Given the description of an element on the screen output the (x, y) to click on. 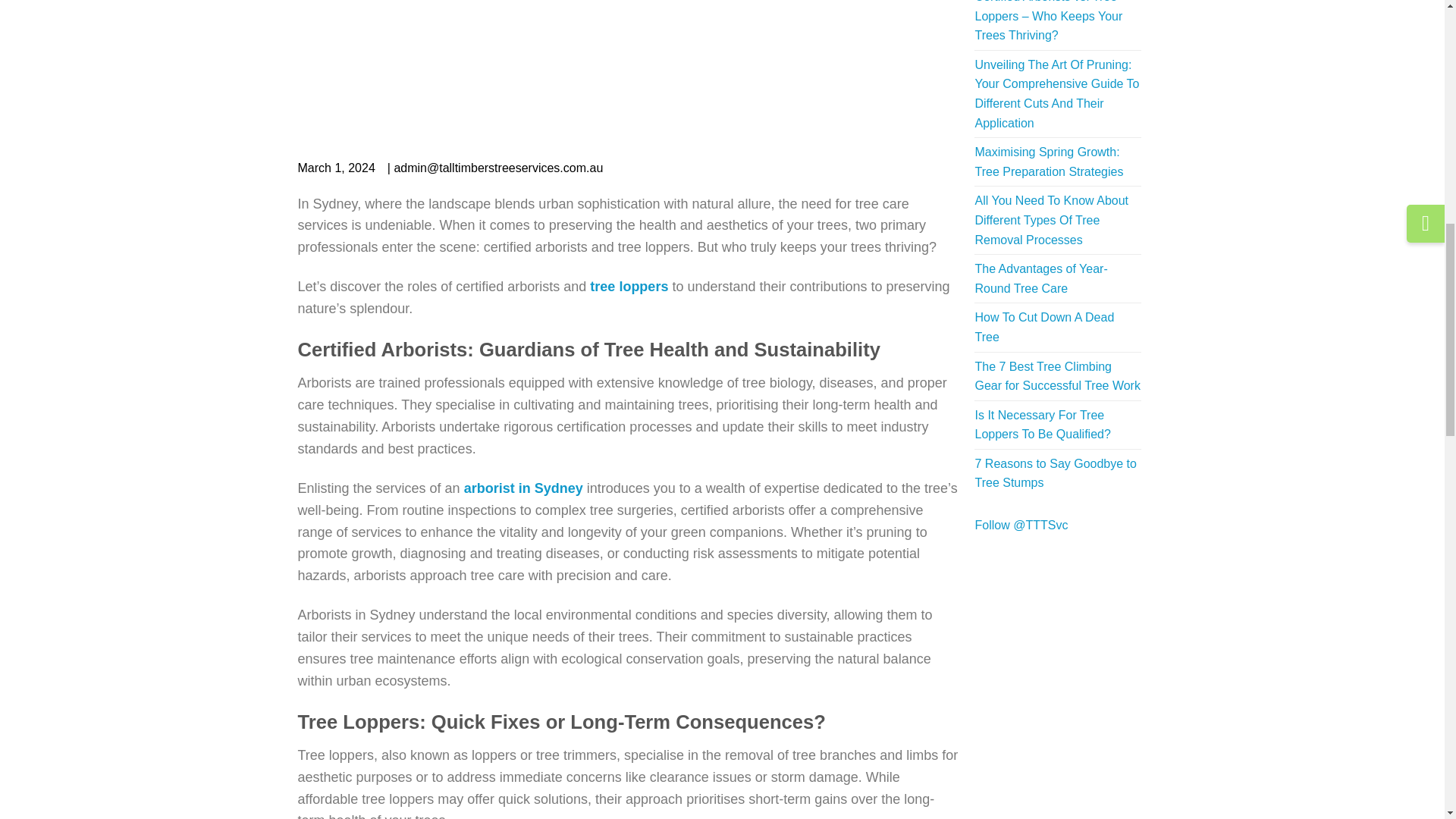
March 1, 2024 (335, 168)
arborist in Sydney (523, 488)
tree loppers (628, 286)
